Given the description of an element on the screen output the (x, y) to click on. 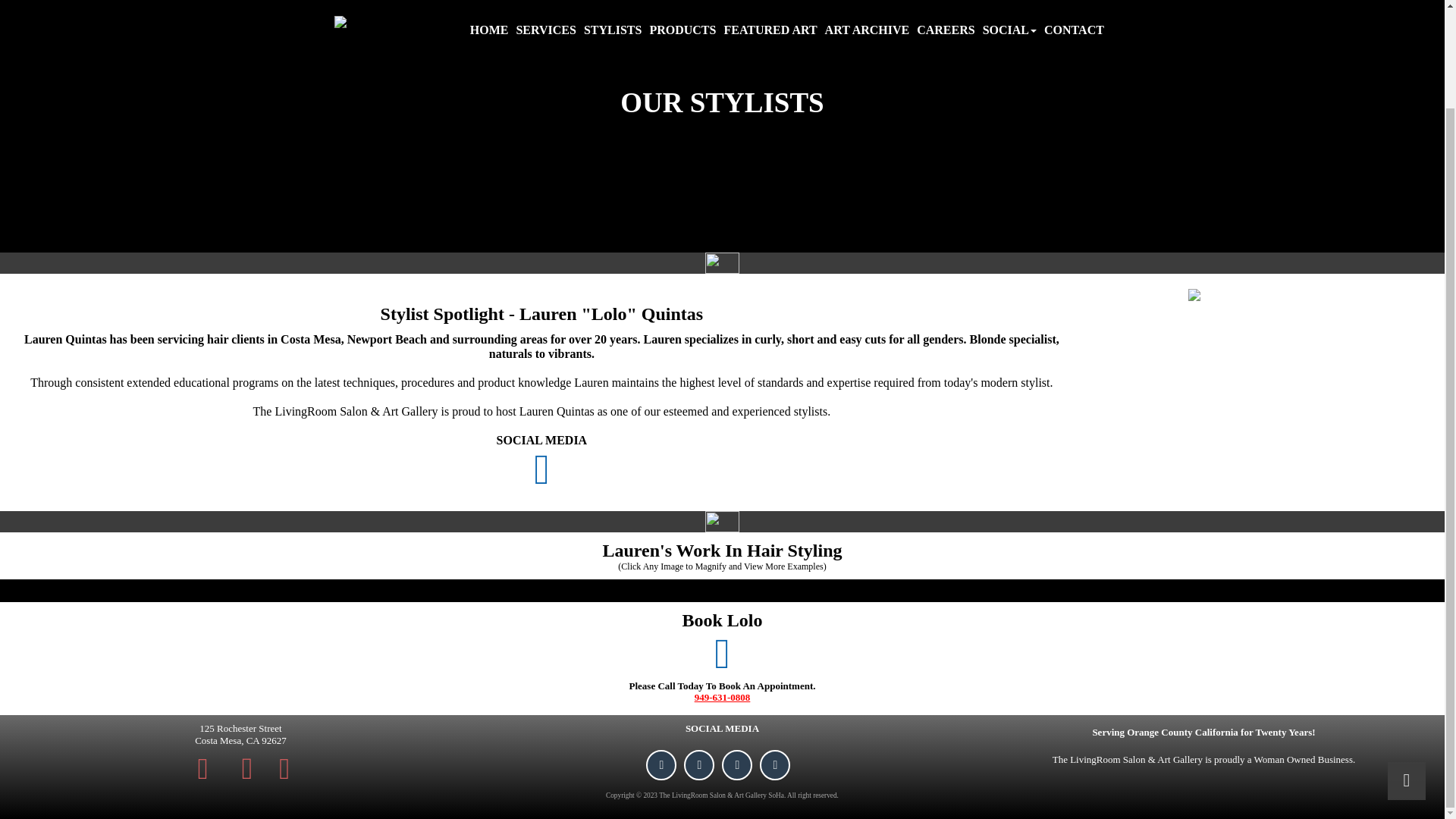
Directions (202, 767)
949-631-0808 (722, 696)
Contact Us (247, 768)
Call Today (284, 767)
